Given the description of an element on the screen output the (x, y) to click on. 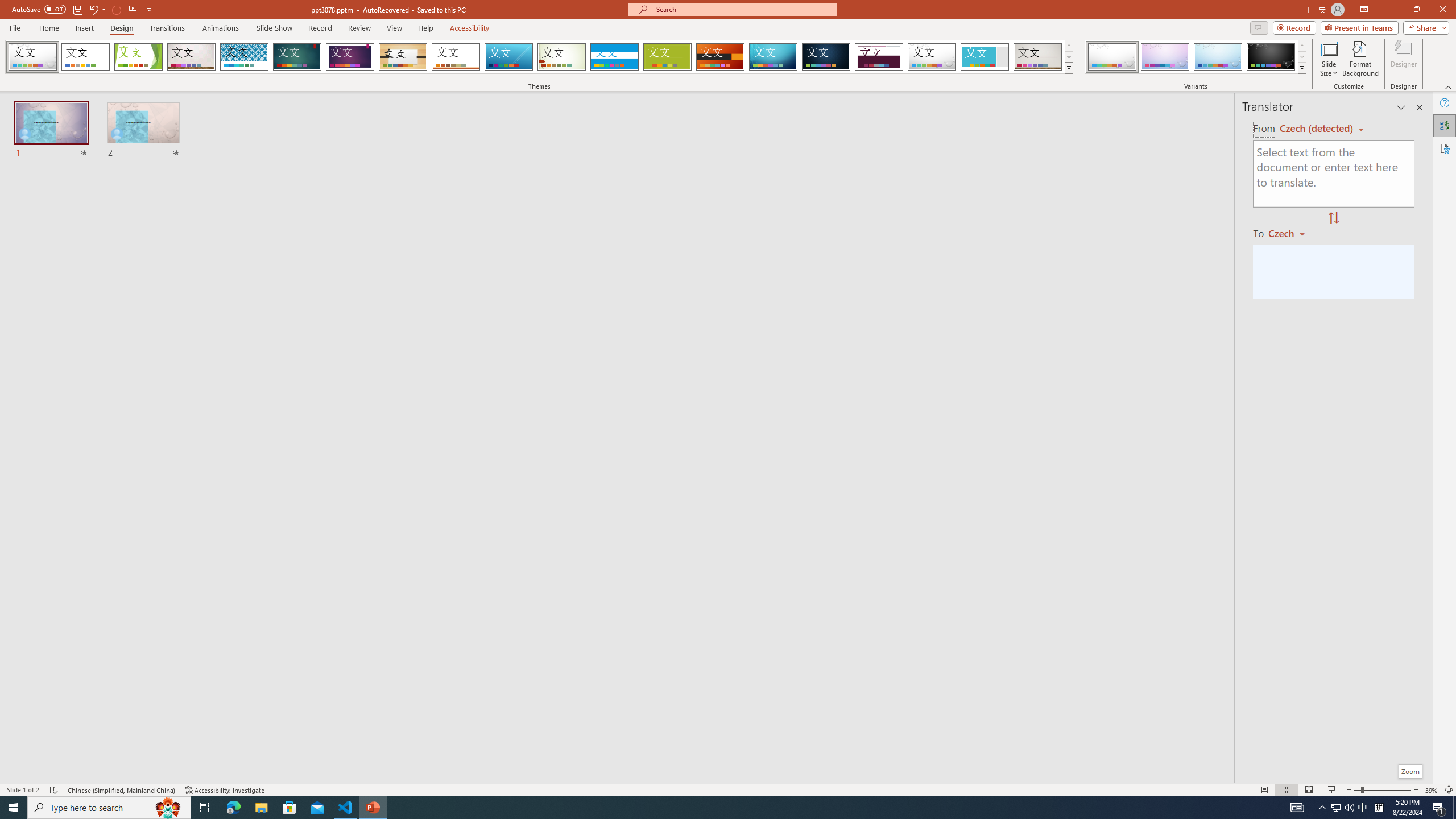
Slice (508, 56)
AutomationID: SlideThemesGallery (539, 56)
Czech (1291, 232)
Retrospect (455, 56)
